Given the description of an element on the screen output the (x, y) to click on. 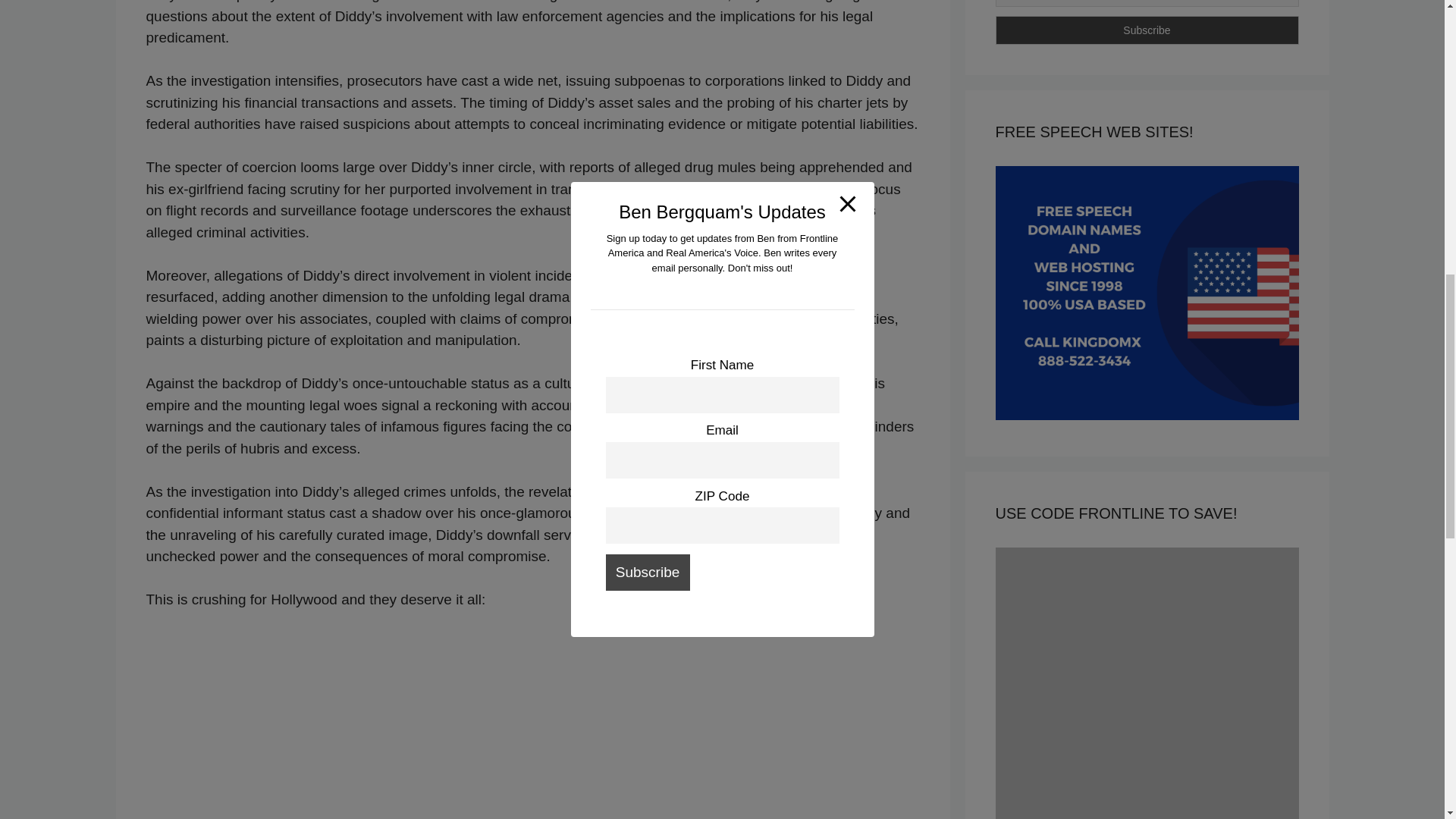
Subscribe (1146, 30)
